Given the description of an element on the screen output the (x, y) to click on. 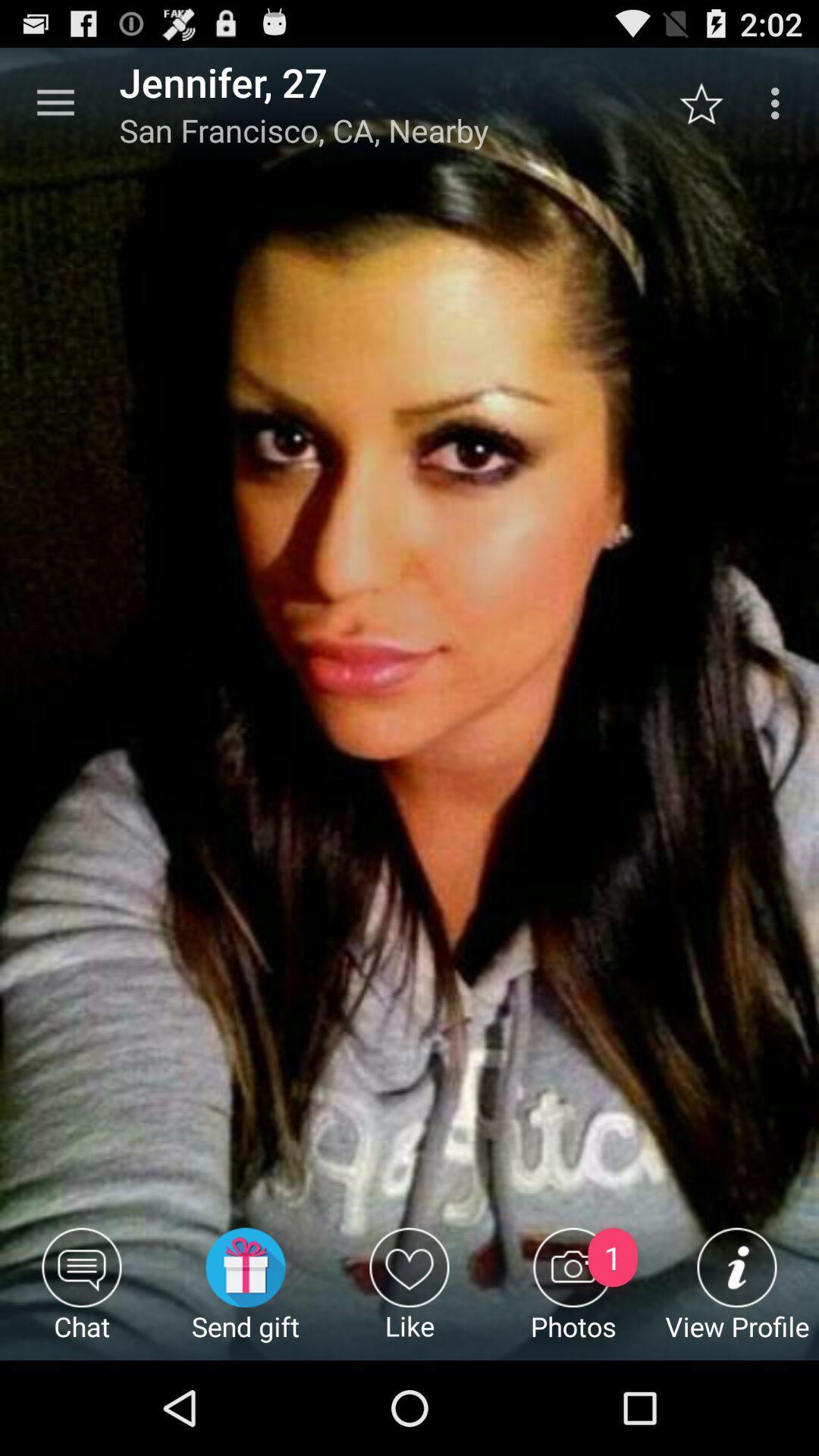
click the item at the bottom (409, 1293)
